Given the description of an element on the screen output the (x, y) to click on. 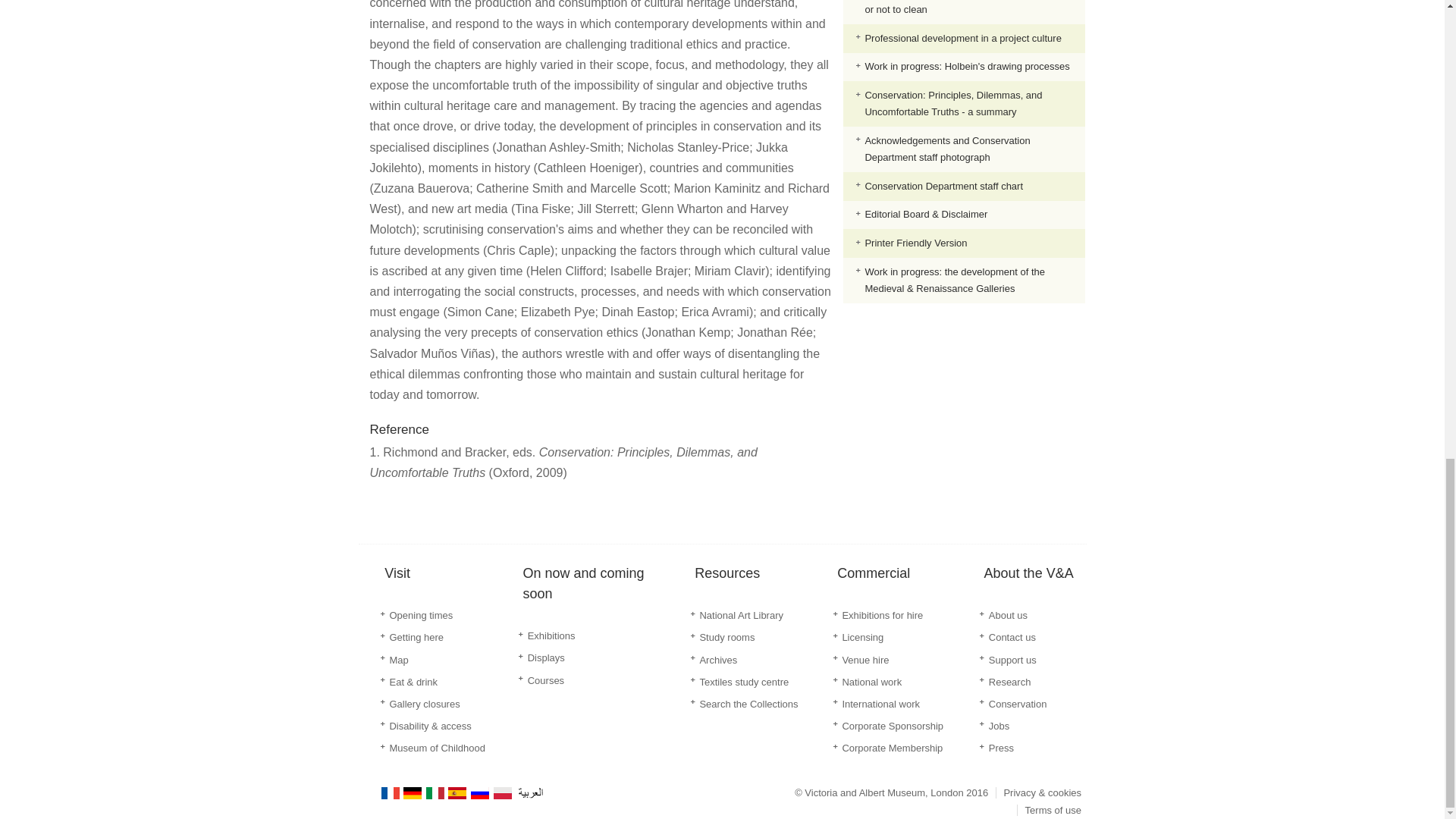
Polski (503, 793)
Deutsch (413, 793)
Italiano (435, 793)
